Given the description of an element on the screen output the (x, y) to click on. 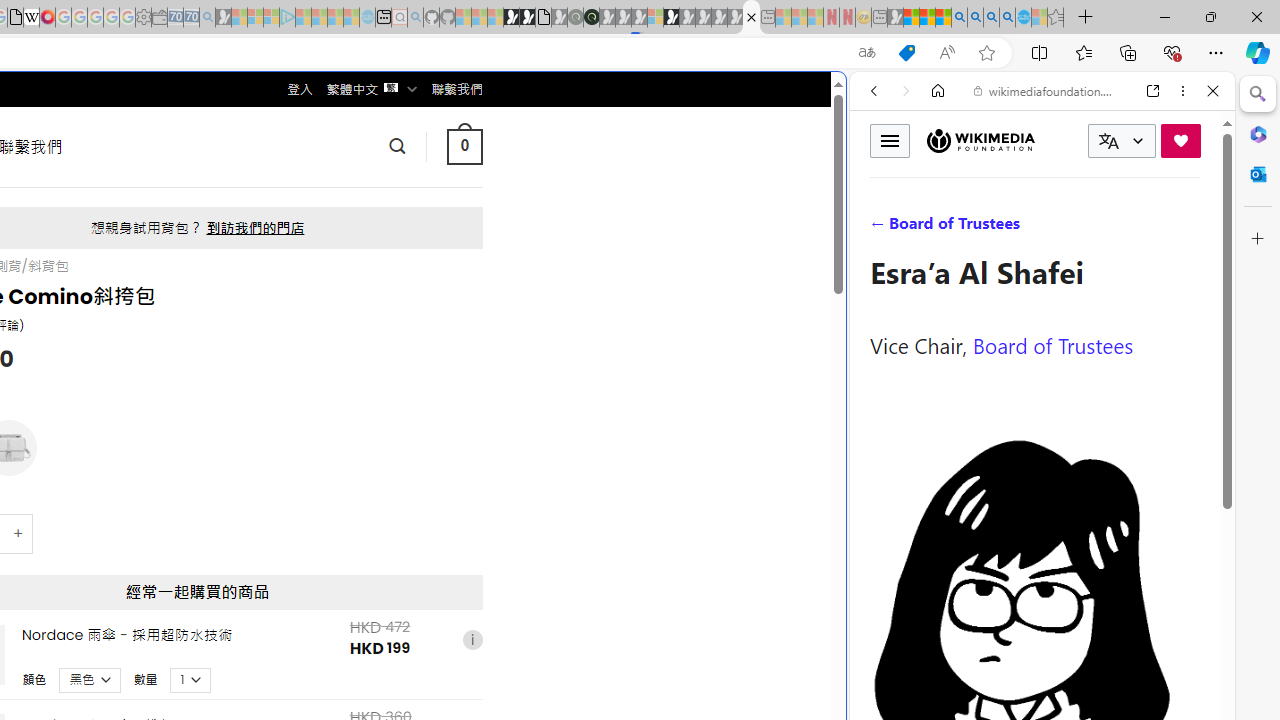
This site has coupons! Shopping in Microsoft Edge, 4 (906, 53)
Services - Maintenance | Sky Blue Bikes - Sky Blue Bikes (1023, 17)
Microsoft account | Privacy - Sleeping (271, 17)
Search Filter, Search Tools (1093, 228)
Close Customize pane (1258, 239)
Wiktionary (1034, 669)
